Given the description of an element on the screen output the (x, y) to click on. 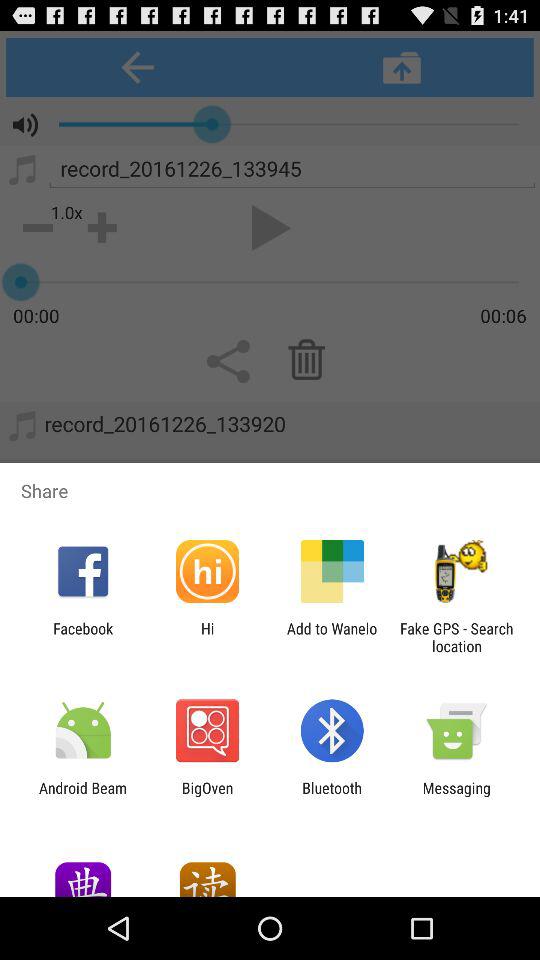
turn off the app next to the messaging app (331, 796)
